Given the description of an element on the screen output the (x, y) to click on. 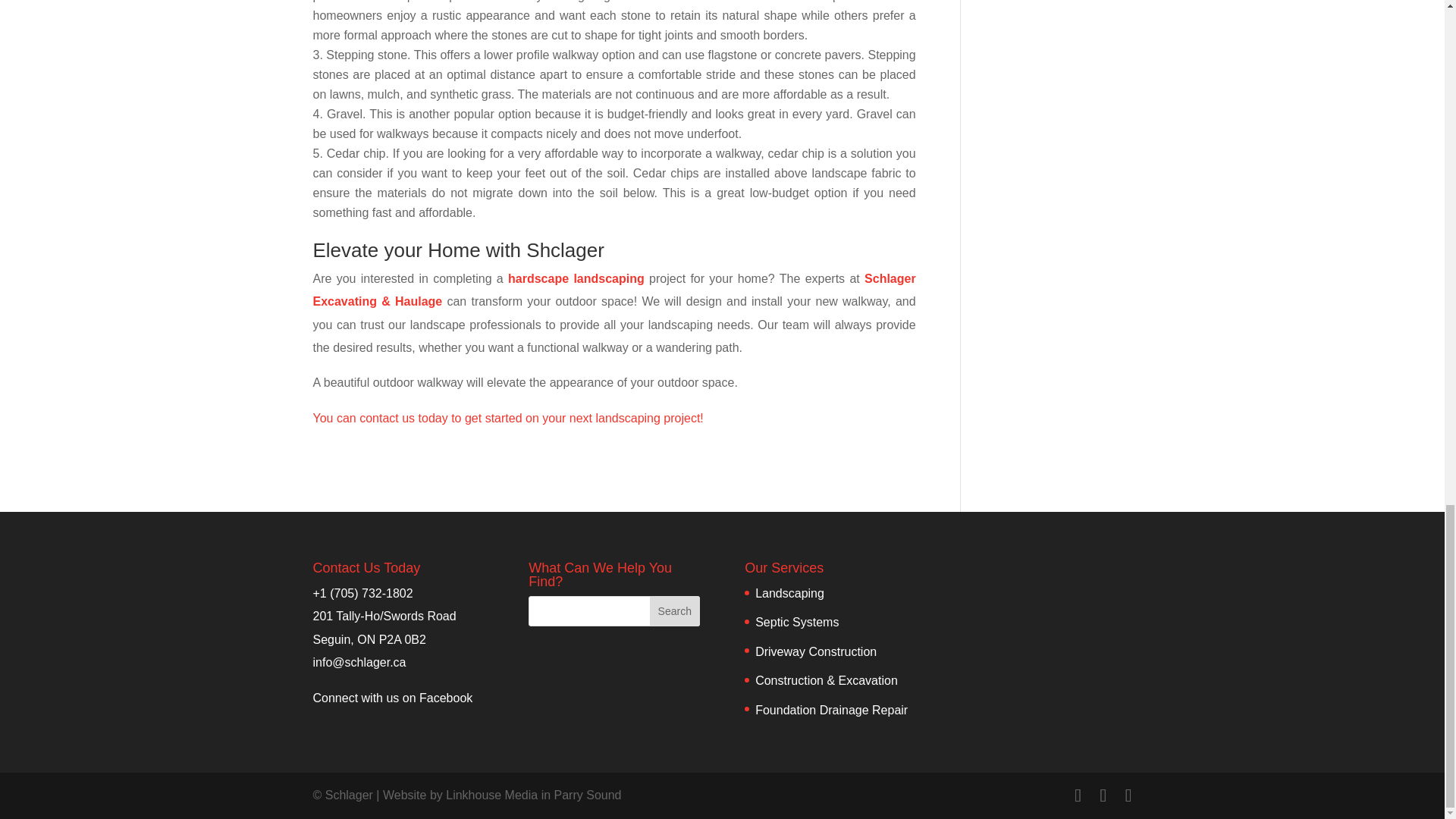
Connect with us on Facebook (392, 697)
Foundation Drainage Repair (831, 708)
hardscape landscaping (576, 278)
Email Us (359, 662)
Go to Facebook (392, 697)
Septic Systems (796, 621)
Driveway Construction (815, 651)
Search (674, 611)
Search (674, 611)
